Given the description of an element on the screen output the (x, y) to click on. 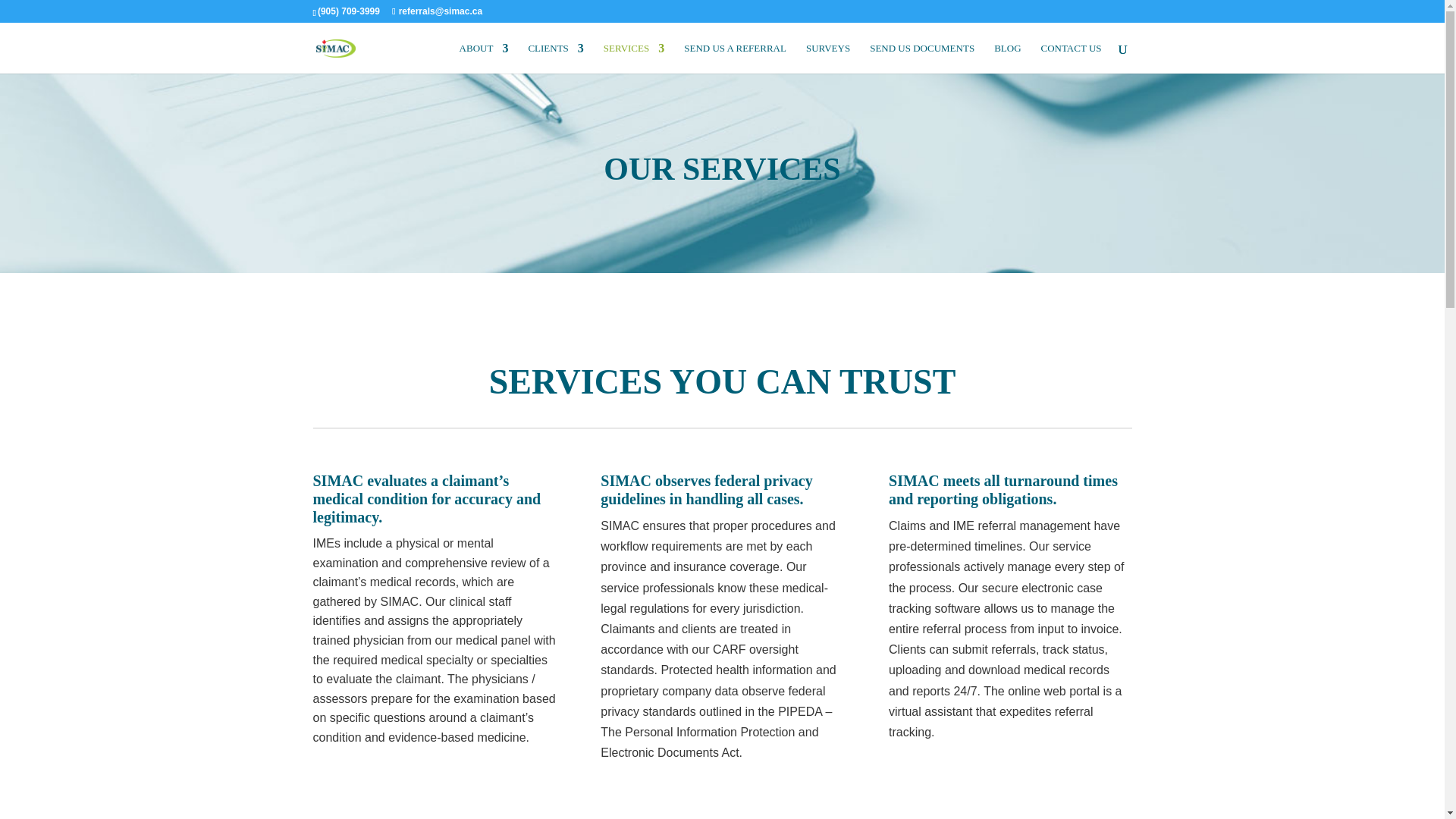
SURVEYS (828, 58)
BLOG (1007, 58)
SEND US A REFERRAL (735, 58)
SERVICES (633, 58)
ABOUT (484, 58)
CLIENTS (555, 58)
SEND US DOCUMENTS (921, 58)
CONTACT US (1071, 58)
